Given the description of an element on the screen output the (x, y) to click on. 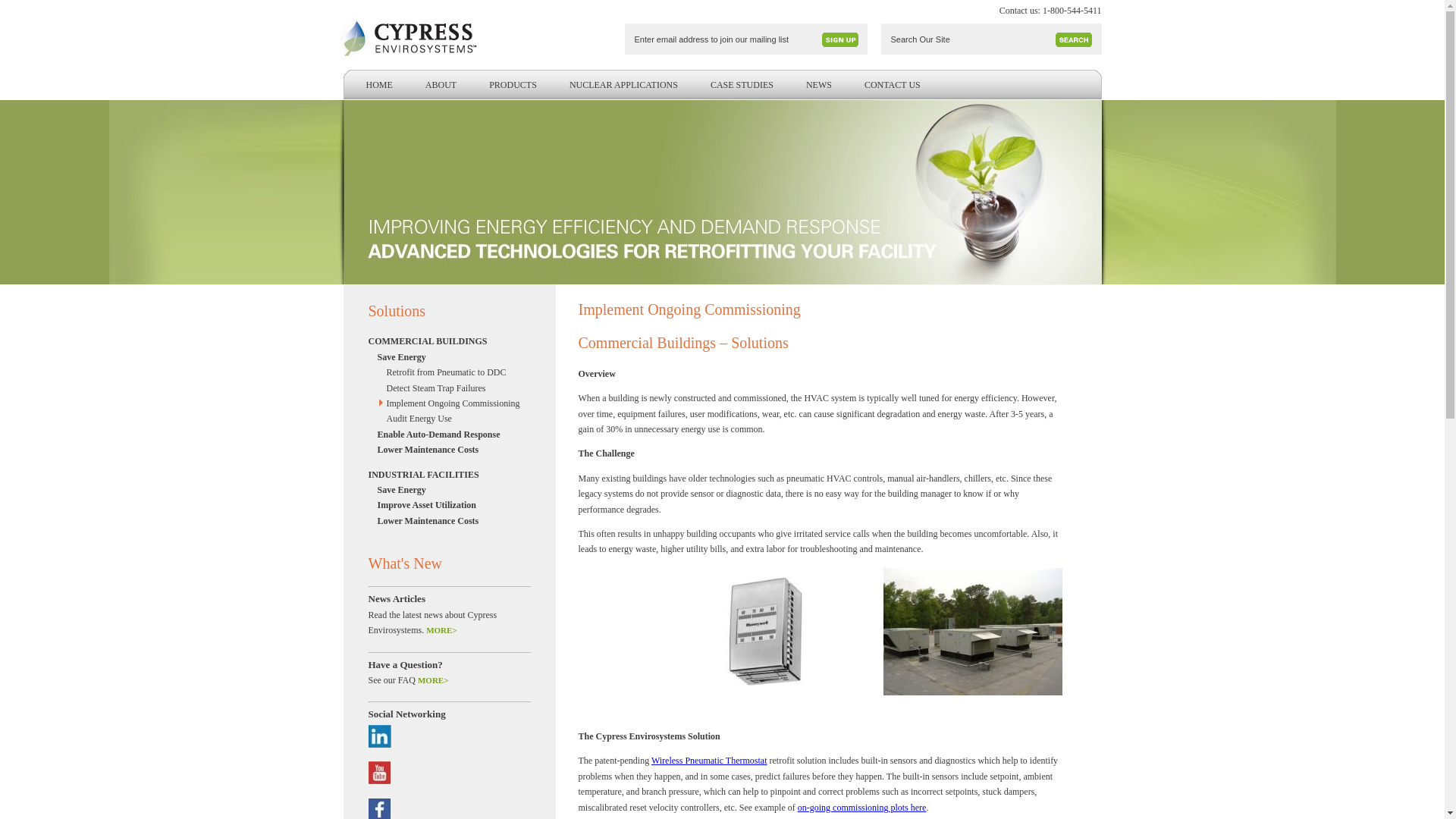
GO (840, 39)
CASE STUDIES (741, 84)
GO (840, 39)
ABOUT (441, 84)
GO (1073, 39)
Retrofit from Pneumatic to DDC (450, 372)
Implement Ongoing Commissioning (450, 403)
Save Energy (445, 356)
Search Our Site (969, 39)
Lower Maintenance Costs (445, 449)
COMMERCIAL BUILDINGS (441, 340)
Search Our Site (969, 39)
HOME (378, 84)
INDUSTRIAL FACILITIES (441, 474)
Audit Energy Use (450, 418)
